Given the description of an element on the screen output the (x, y) to click on. 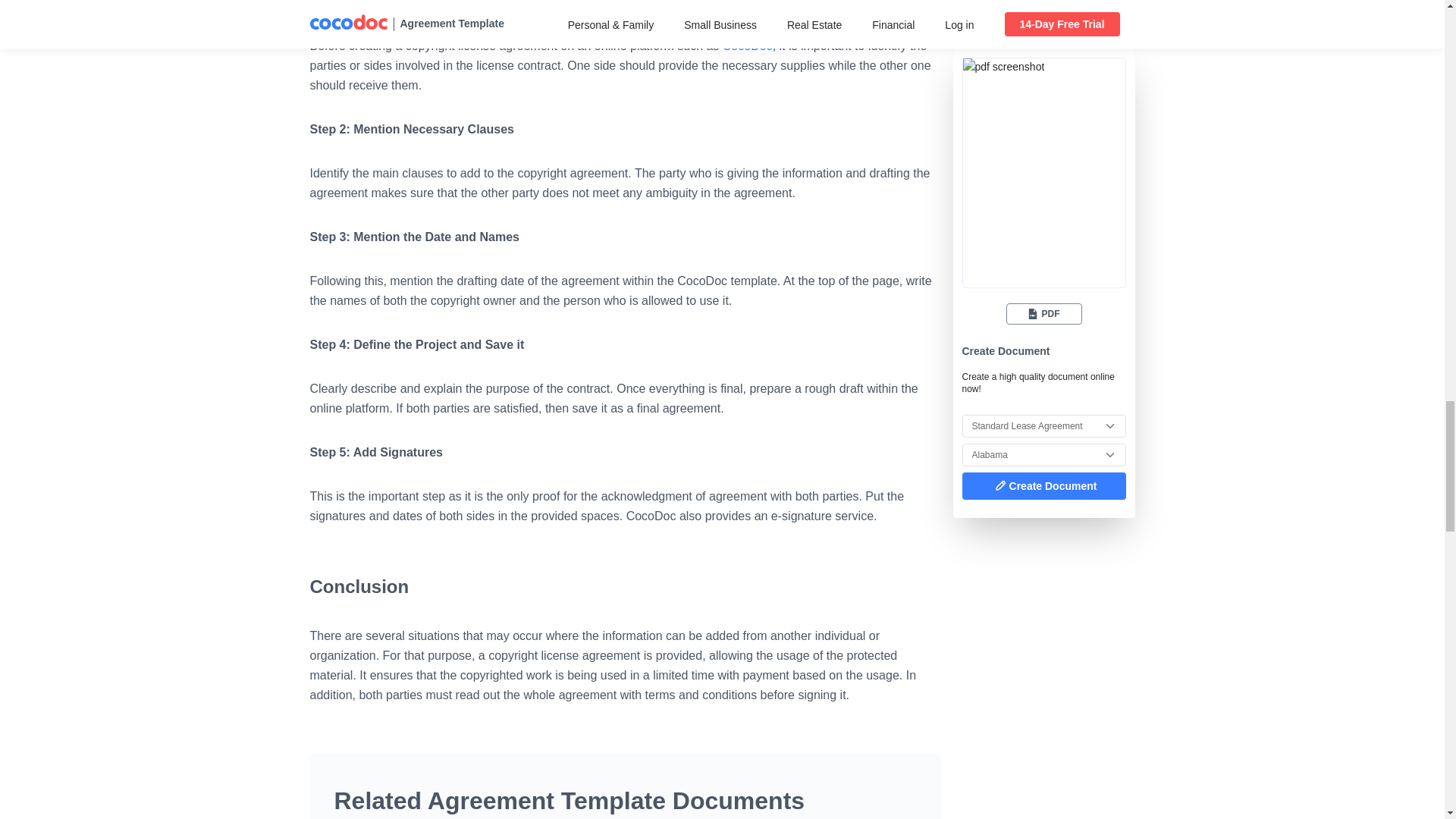
CocoDoc (747, 45)
